Given the description of an element on the screen output the (x, y) to click on. 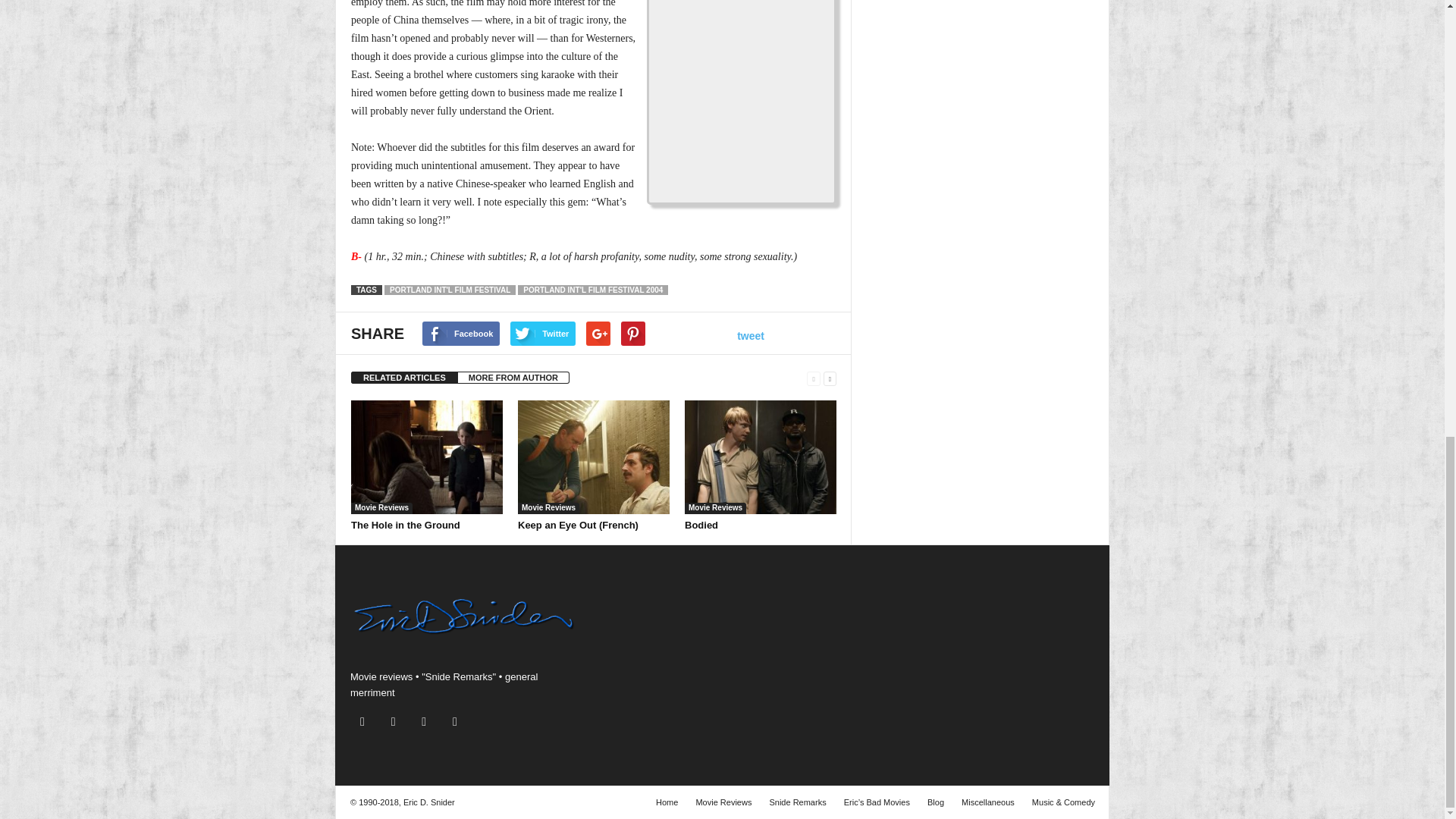
The Hole in the Ground (426, 457)
The Hole in the Ground (405, 524)
Bodied (759, 457)
Bodied (700, 524)
